Given the description of an element on the screen output the (x, y) to click on. 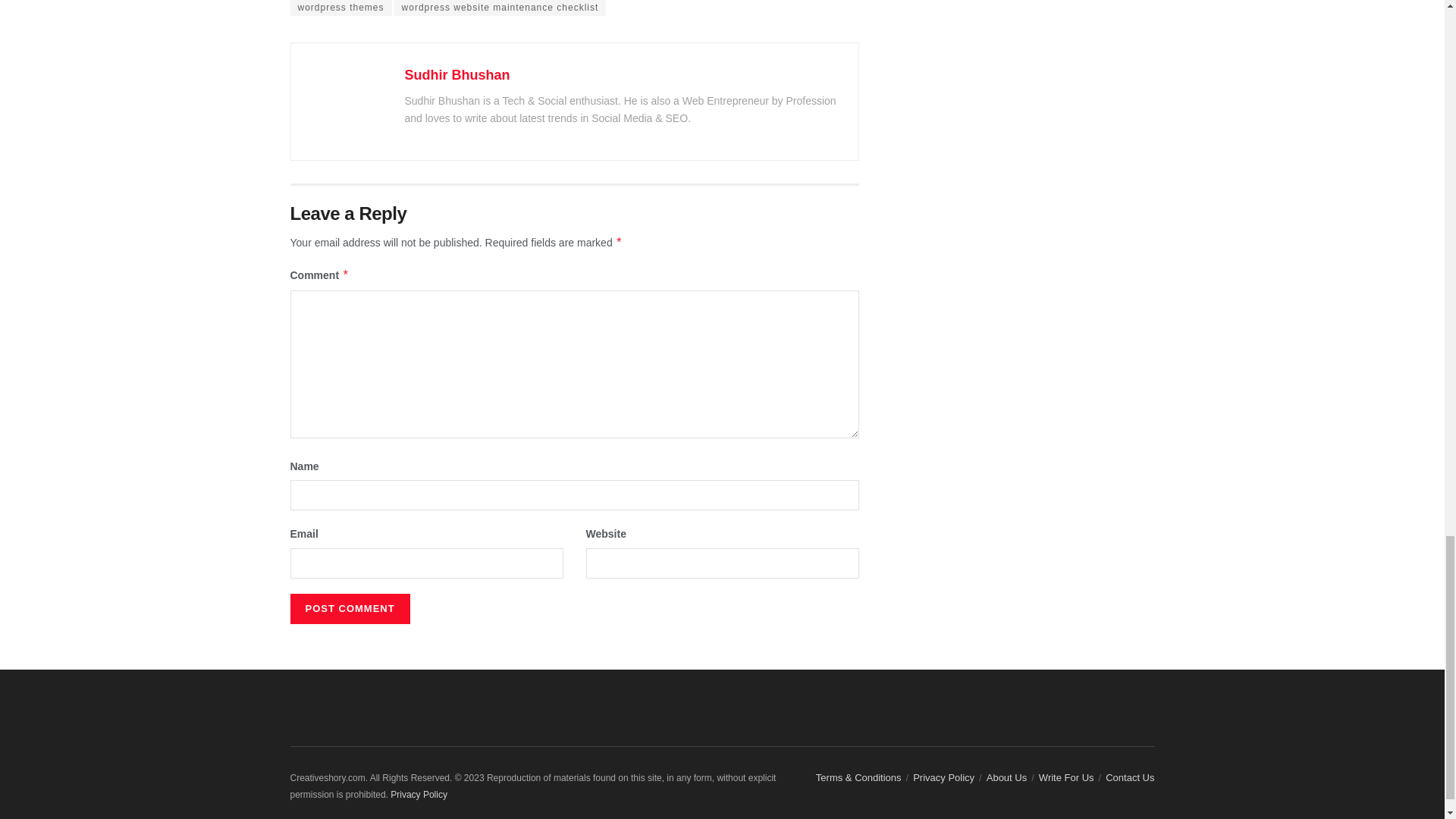
Post Comment (349, 608)
